Given the description of an element on the screen output the (x, y) to click on. 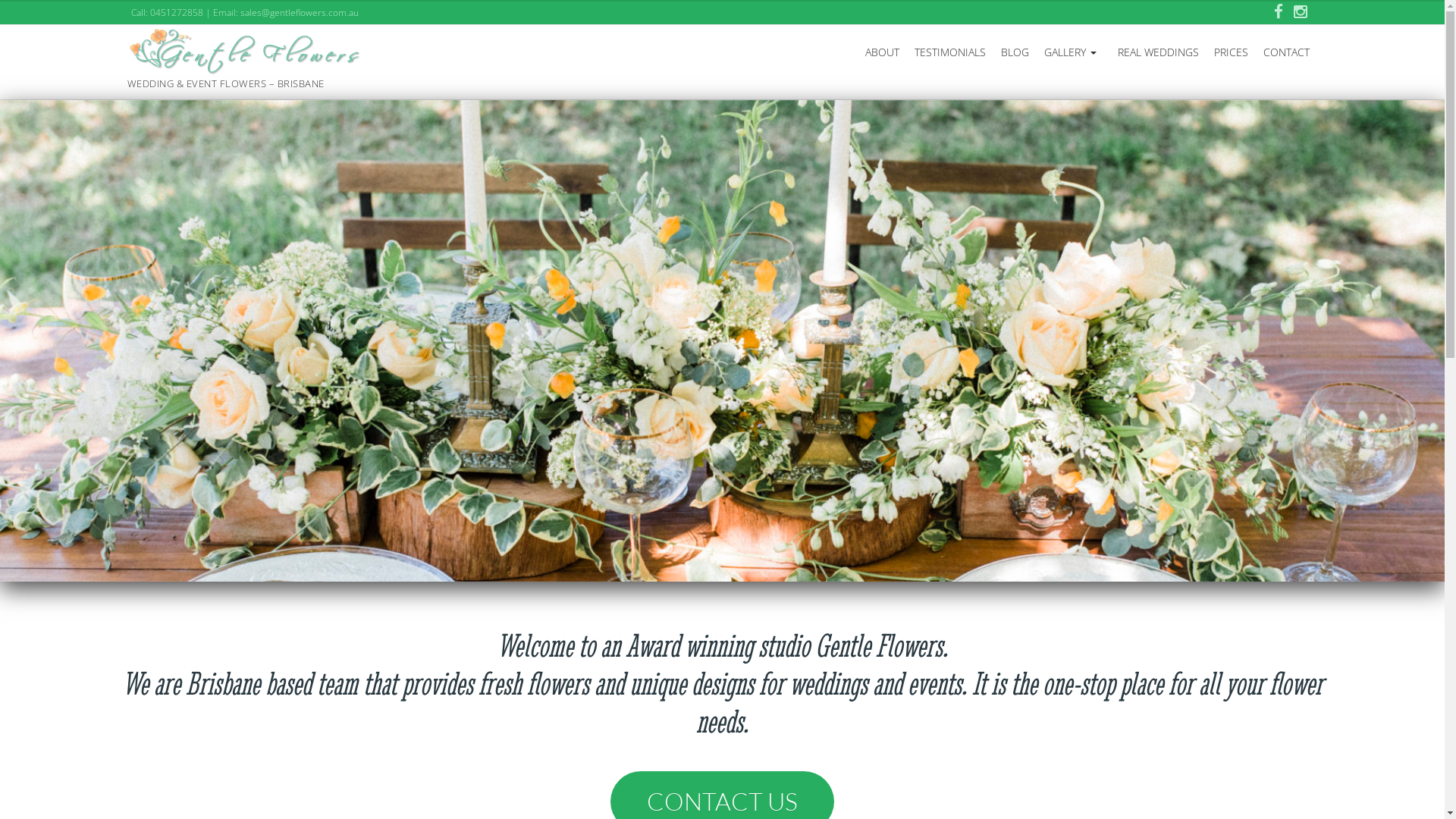
BLOG Element type: text (1014, 52)
PRICES Element type: text (1230, 52)
GALLERY... Element type: text (1073, 52)
TESTIMONIALS Element type: text (949, 52)
REAL WEDDINGS Element type: text (1158, 52)
ABOUT Element type: text (881, 52)
CONTACT Element type: text (1286, 52)
